Given the description of an element on the screen output the (x, y) to click on. 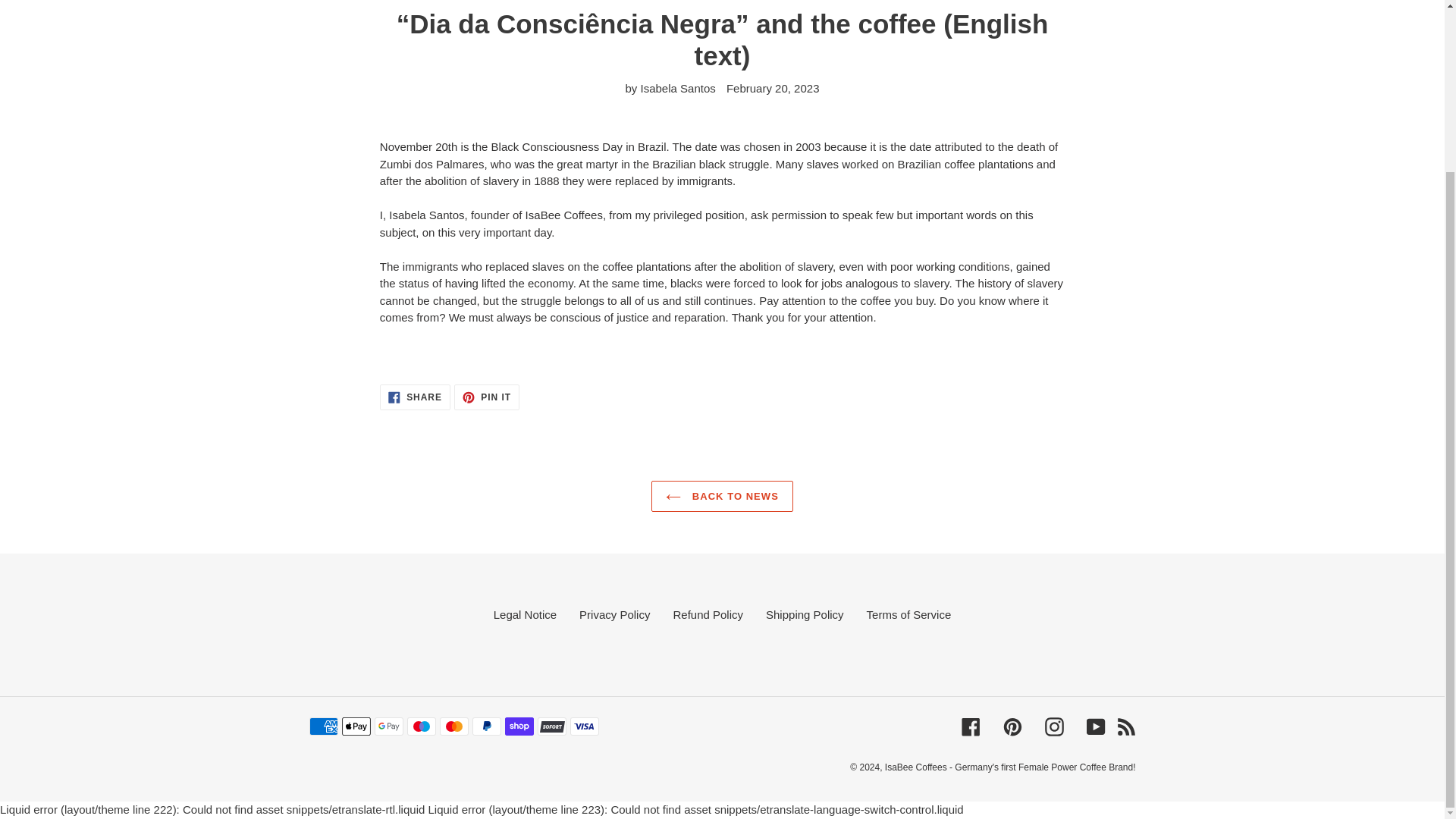
Terms of Service (909, 614)
Pinterest (1012, 726)
Refund Policy (707, 614)
YouTube (1095, 726)
Instagram (1054, 726)
RSS (1125, 726)
Facebook (969, 726)
Shipping Policy (804, 614)
BACK TO NEWS (721, 496)
Legal Notice (524, 614)
Privacy Policy (614, 614)
IsaBee Coffees - Germany's first Female Power Coffee Brand! (1010, 767)
